Given the description of an element on the screen output the (x, y) to click on. 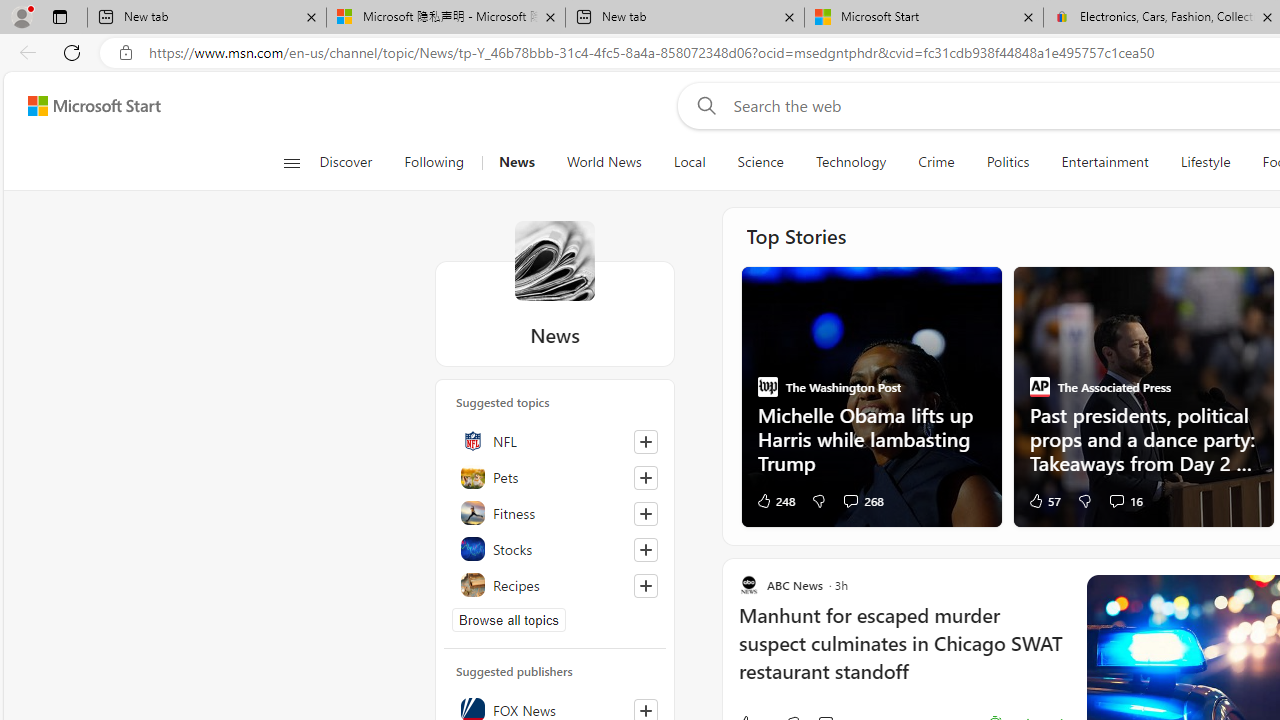
Follow this source (645, 710)
View comments 268 Comment (850, 500)
Recipes (555, 584)
